Given the description of an element on the screen output the (x, y) to click on. 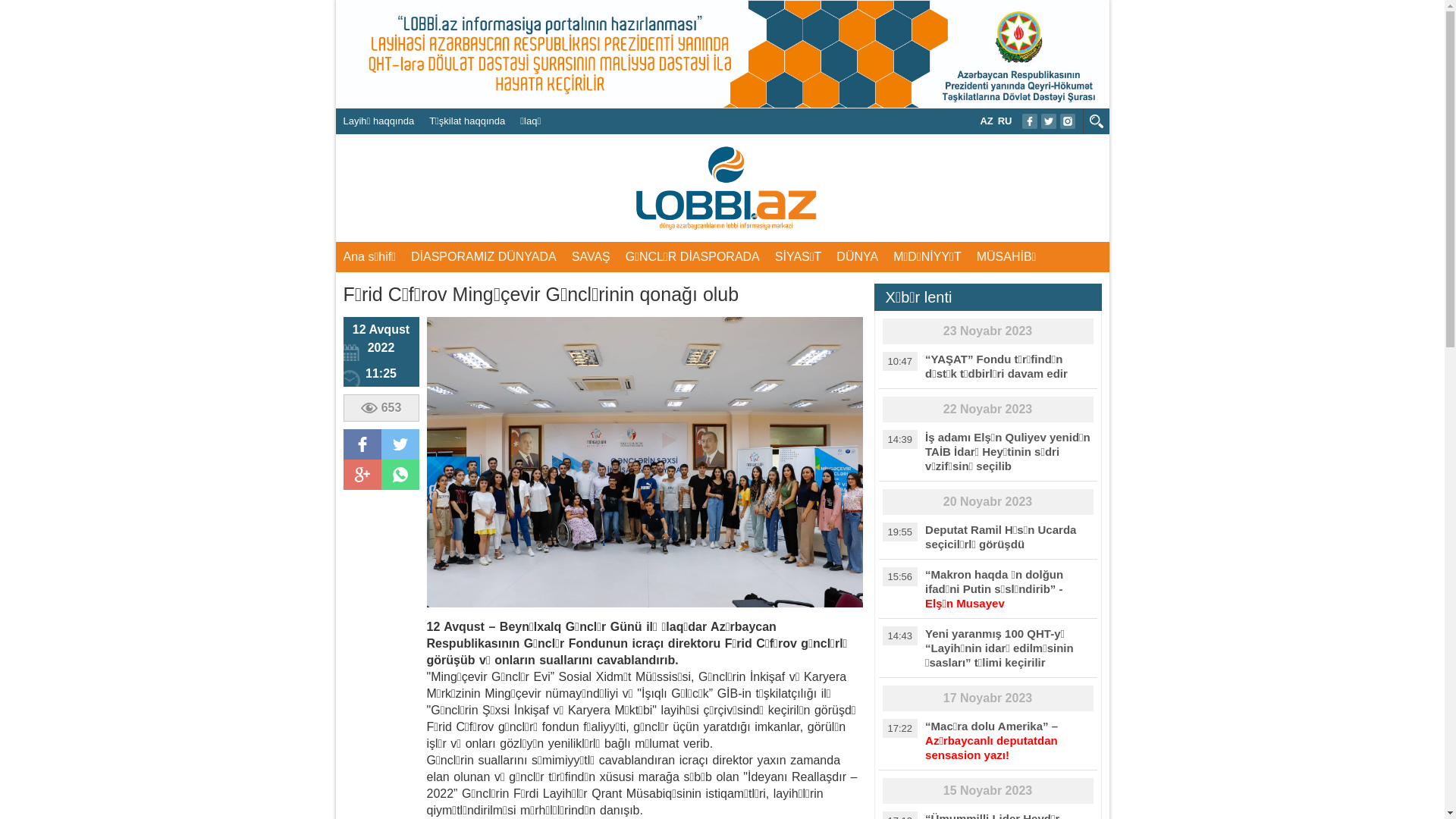
AZ Element type: text (985, 120)
RU Element type: text (1004, 120)
